Given the description of an element on the screen output the (x, y) to click on. 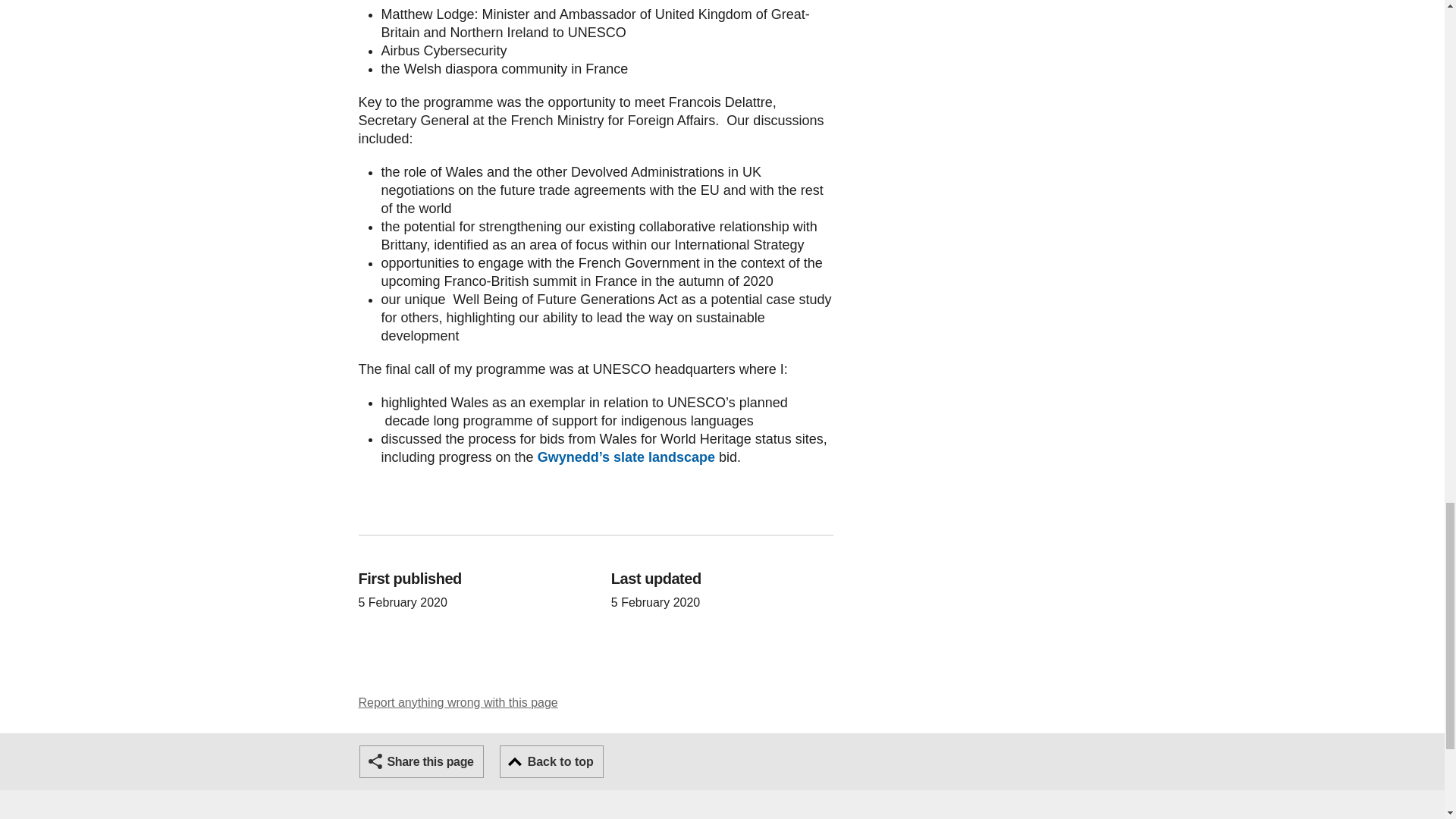
Share this page (421, 761)
Report anything wrong with this page (457, 702)
Back to top (551, 761)
